Given the description of an element on the screen output the (x, y) to click on. 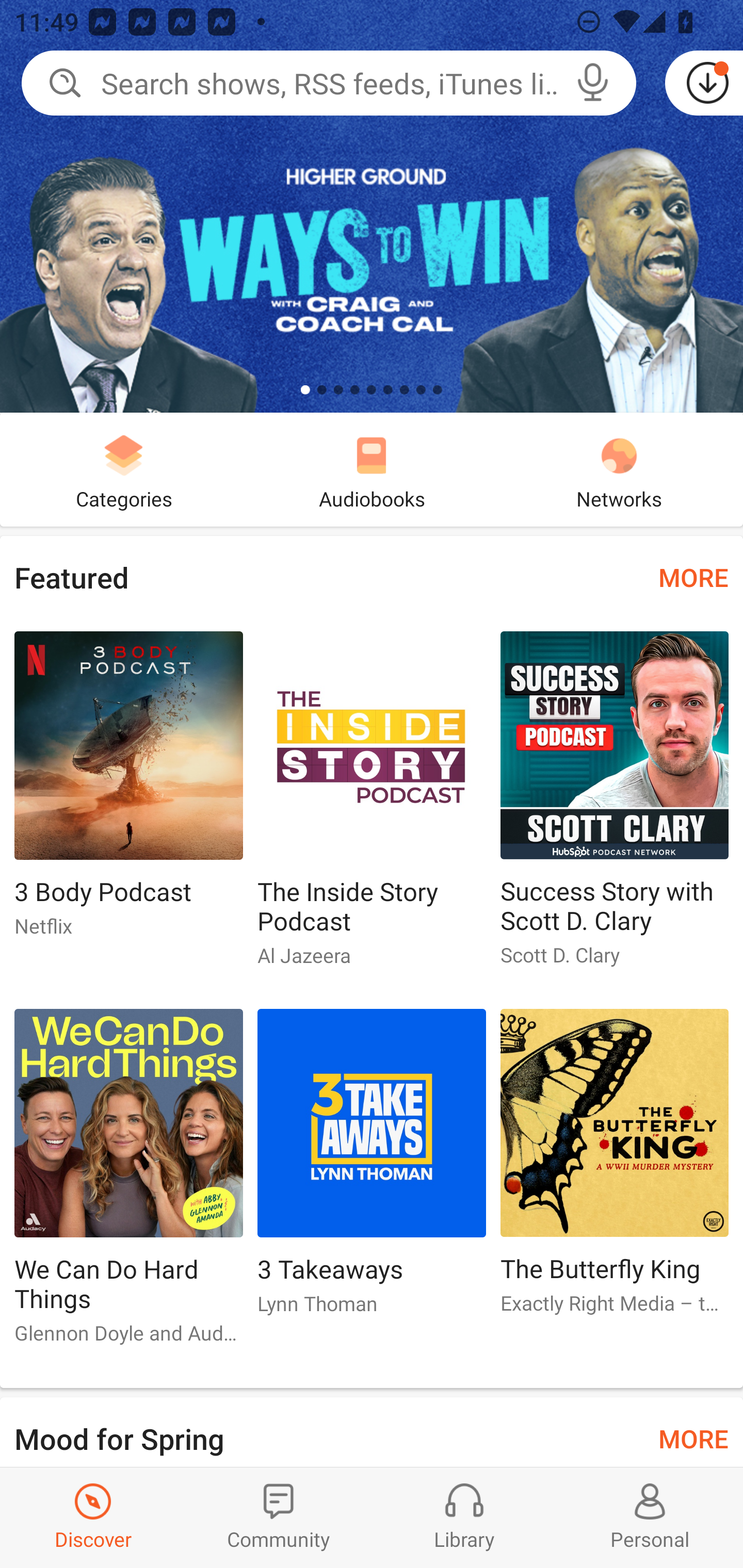
Ways To Win (371, 206)
Categories (123, 469)
Audiobooks (371, 469)
Networks (619, 469)
MORE (693, 576)
3 Body Podcast 3 Body Podcast Netflix (128, 792)
3 Takeaways 3 Takeaways Lynn Thoman (371, 1169)
MORE (693, 1436)
Discover (92, 1517)
Community (278, 1517)
Library (464, 1517)
Profiles and Settings Personal (650, 1517)
